Given the description of an element on the screen output the (x, y) to click on. 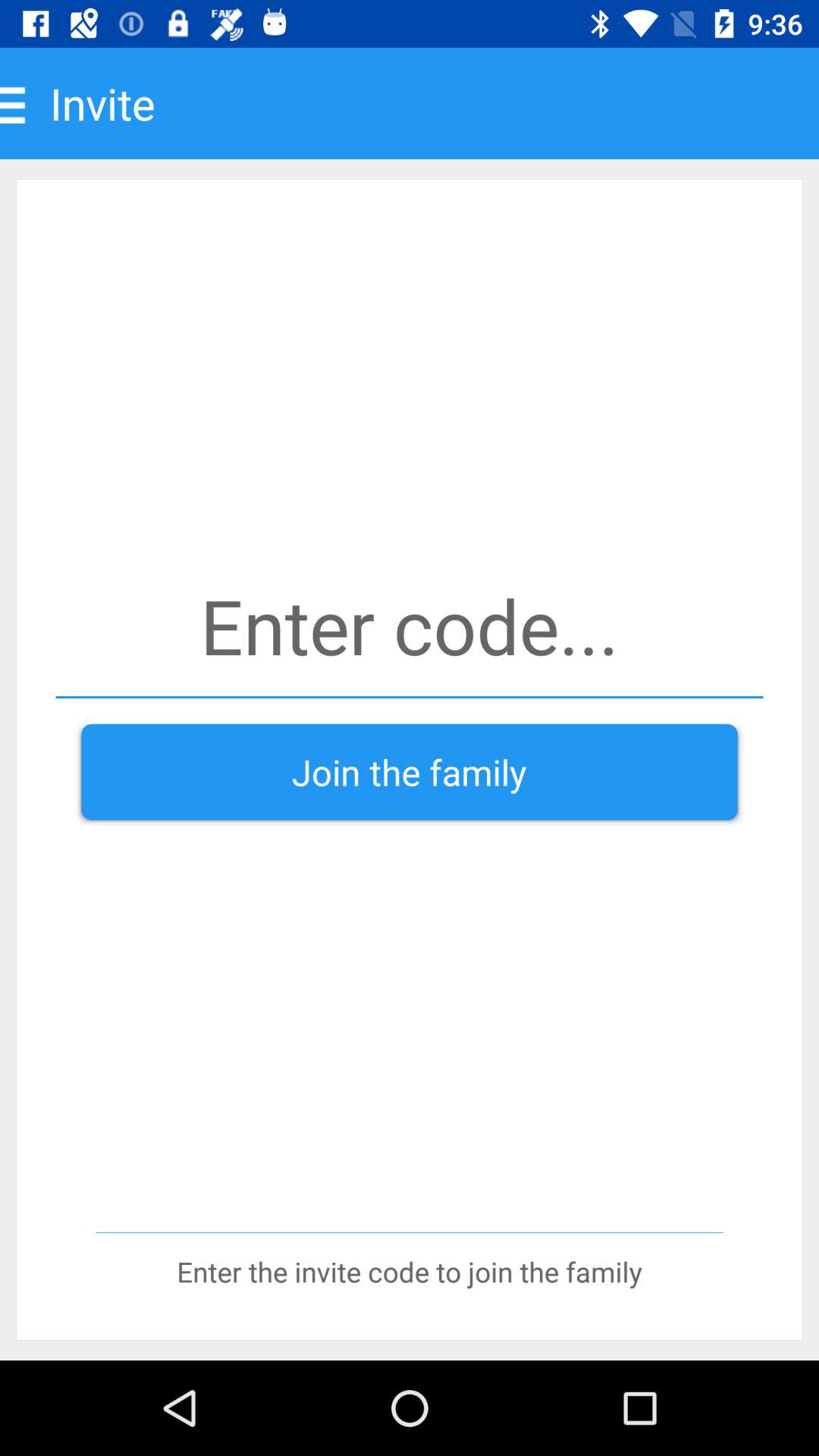
enter invite code (409, 625)
